Given the description of an element on the screen output the (x, y) to click on. 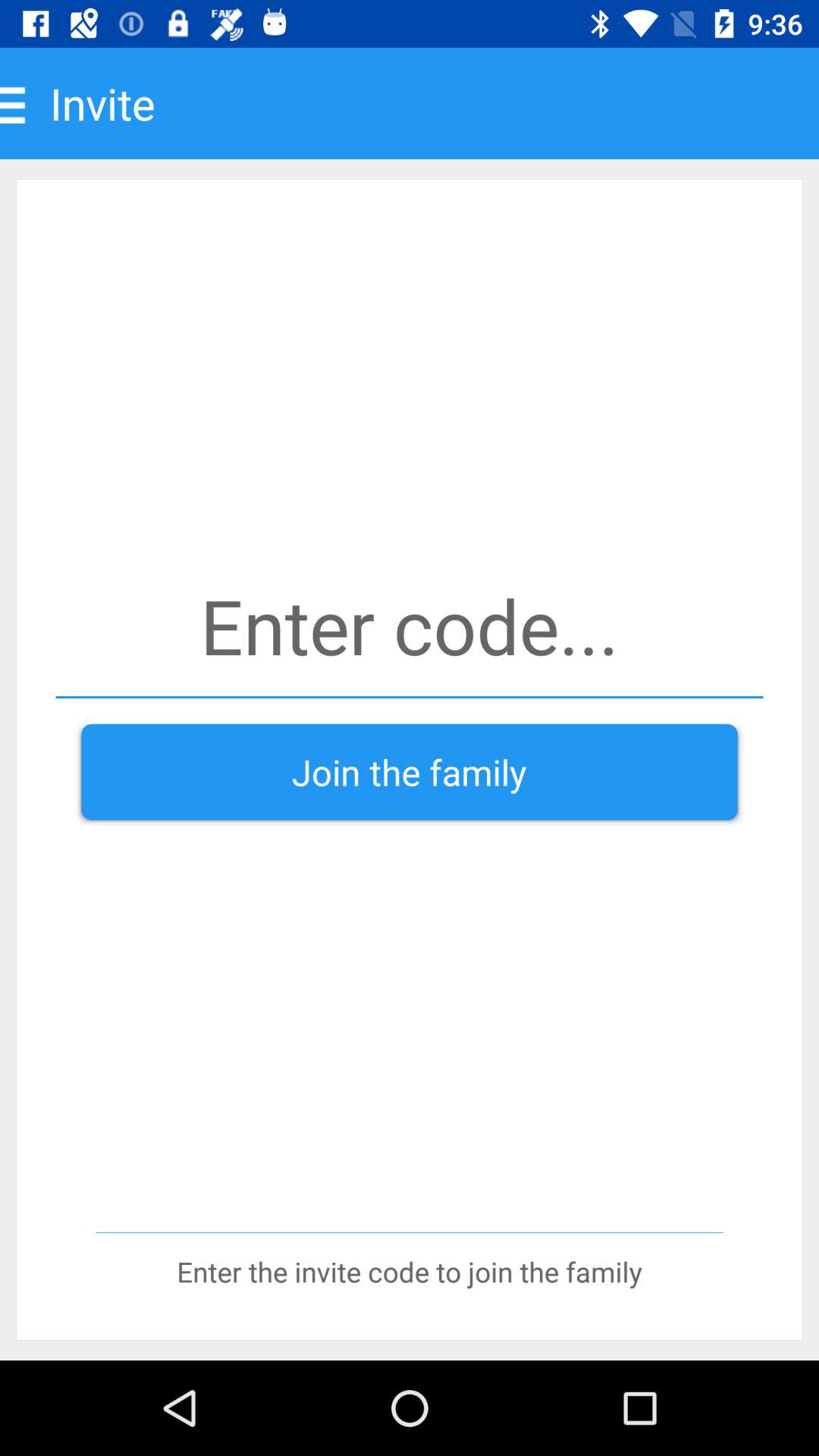
enter invite code (409, 625)
